Given the description of an element on the screen output the (x, y) to click on. 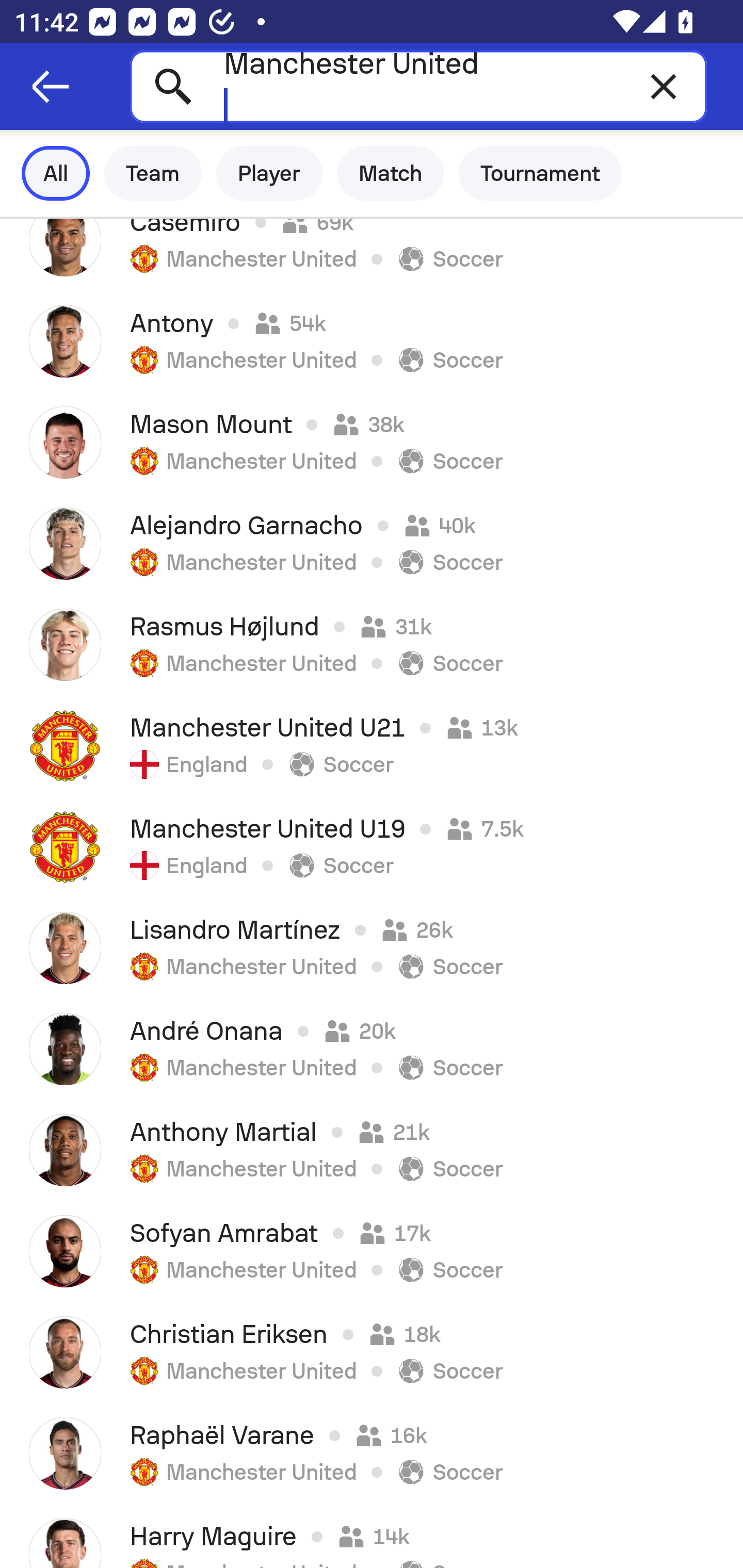
Navigate up (50, 86)
Manchester United
 (418, 86)
Clear text (663, 86)
All (55, 172)
Team (152, 172)
Player (268, 172)
Match (390, 172)
Tournament (540, 172)
Casemiro 69k Manchester United Soccer (371, 254)
Antony 54k Manchester United Soccer (371, 341)
Mason Mount 38k Manchester United Soccer (371, 442)
Alejandro Garnacho 40k Manchester United Soccer (371, 543)
Rasmus Højlund 31k Manchester United Soccer (371, 644)
Manchester United U21 13k England Soccer (371, 745)
Manchester United U19 7.5k England Soccer (371, 846)
Lisandro Martínez 26k Manchester United Soccer (371, 947)
André Onana 20k Manchester United Soccer (371, 1048)
Anthony Martial 21k Manchester United Soccer (371, 1150)
Sofyan Amrabat 17k Manchester United Soccer (371, 1251)
Christian Eriksen 18k Manchester United Soccer (371, 1352)
Raphaël Varane 16k Manchester United Soccer (371, 1453)
Harry Maguire 14k Manchester United Soccer (371, 1535)
